Given the description of an element on the screen output the (x, y) to click on. 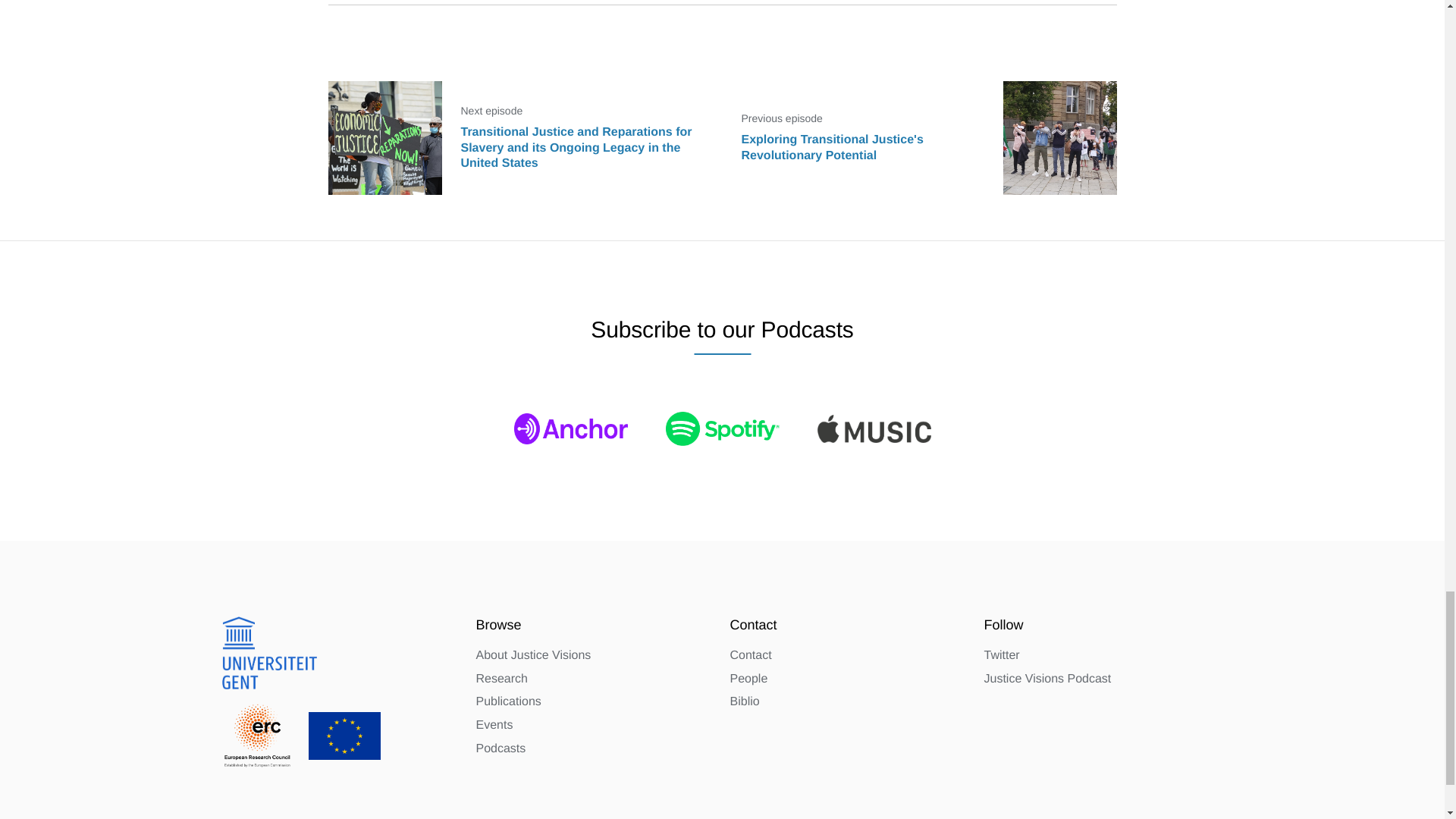
Publications (508, 702)
Research (501, 679)
Events (494, 725)
About Justice Visions (533, 656)
Podcasts (500, 749)
